Given the description of an element on the screen output the (x, y) to click on. 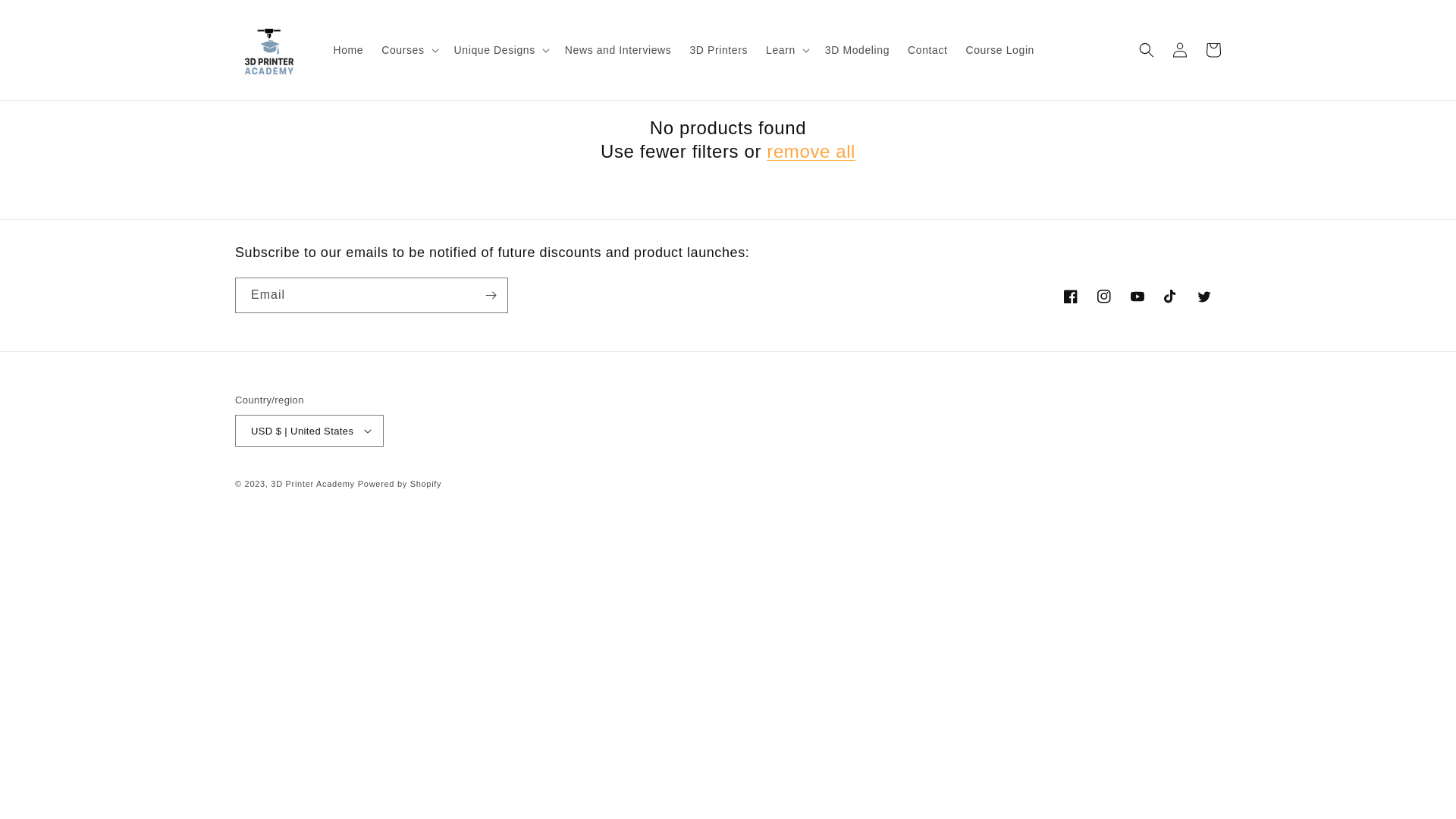
3D Printer Academy Element type: text (312, 483)
YouTube Element type: text (1137, 296)
Cart Element type: text (1213, 49)
Twitter Element type: text (1203, 296)
TikTok Element type: text (1170, 296)
Instagram Element type: text (1103, 296)
USD $ | United States Element type: text (309, 430)
Contact Element type: text (927, 49)
Log in Element type: text (1179, 49)
3D Printers Element type: text (718, 49)
Powered by Shopify Element type: text (399, 483)
Home Element type: text (348, 49)
News and Interviews Element type: text (617, 49)
3D Modeling Element type: text (856, 49)
Course Login Element type: text (1000, 49)
remove all Element type: text (810, 151)
Facebook Element type: text (1070, 296)
